Given the description of an element on the screen output the (x, y) to click on. 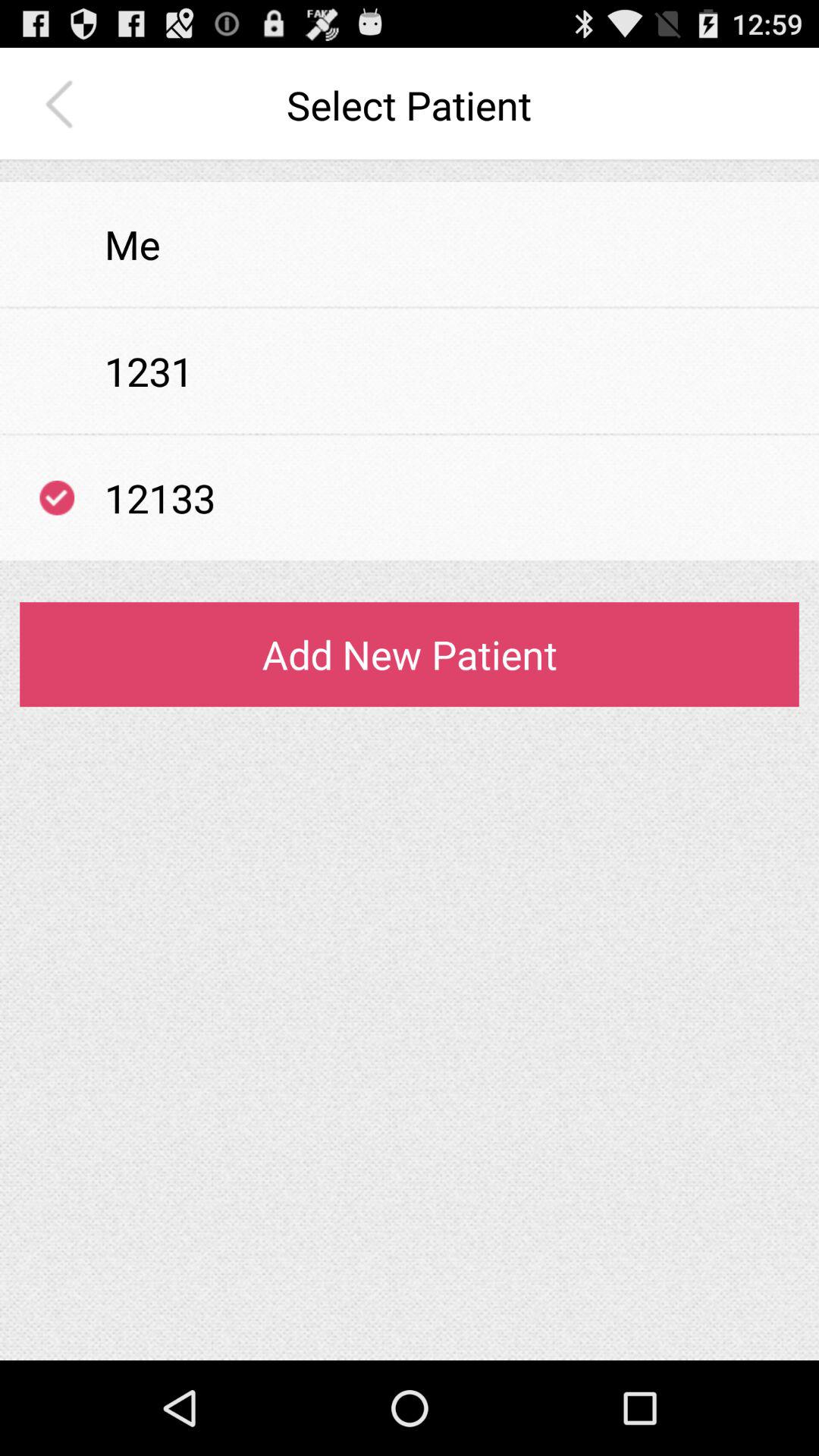
open item below 12133 (409, 561)
